Given the description of an element on the screen output the (x, y) to click on. 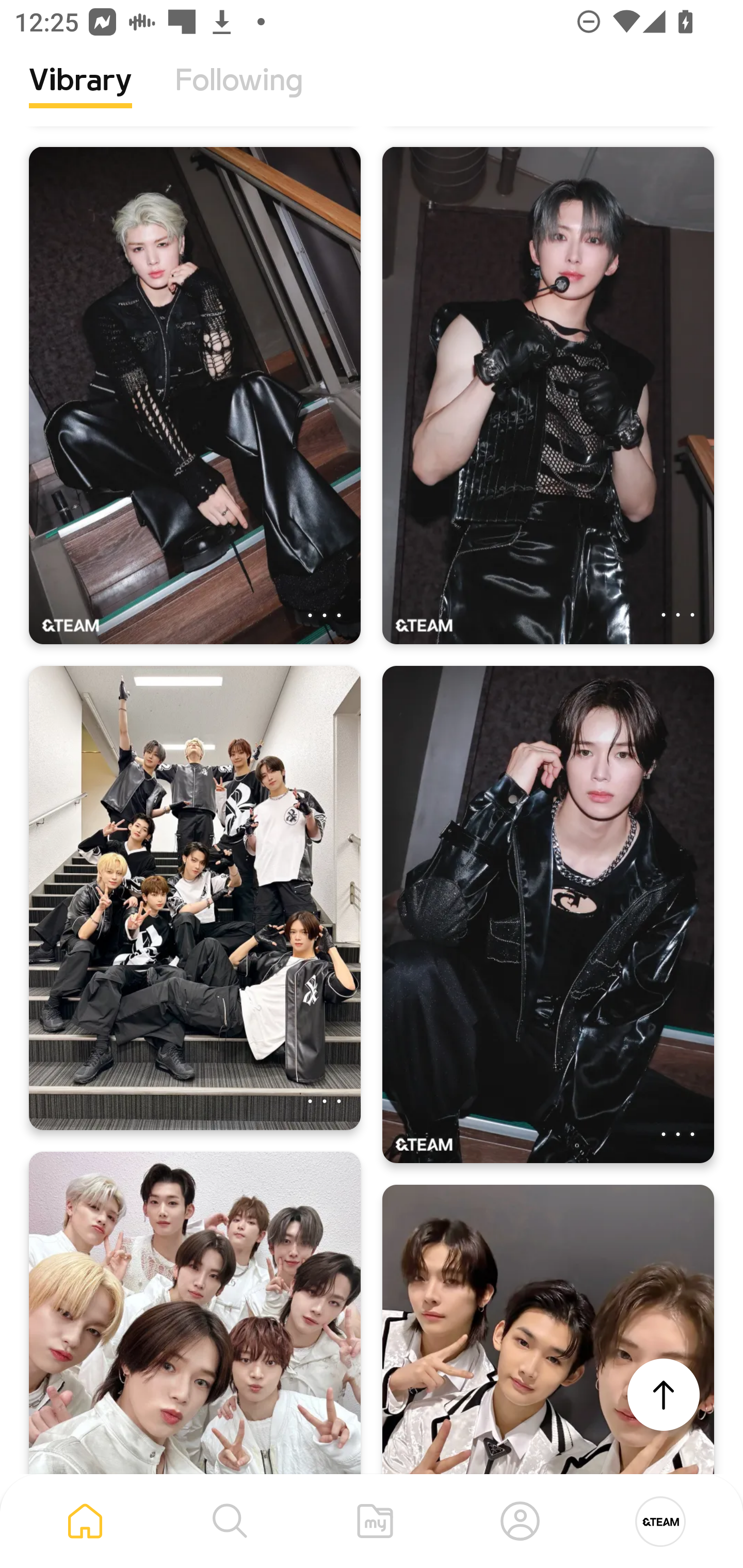
Vibrary (80, 95)
Following (239, 95)
